Given the description of an element on the screen output the (x, y) to click on. 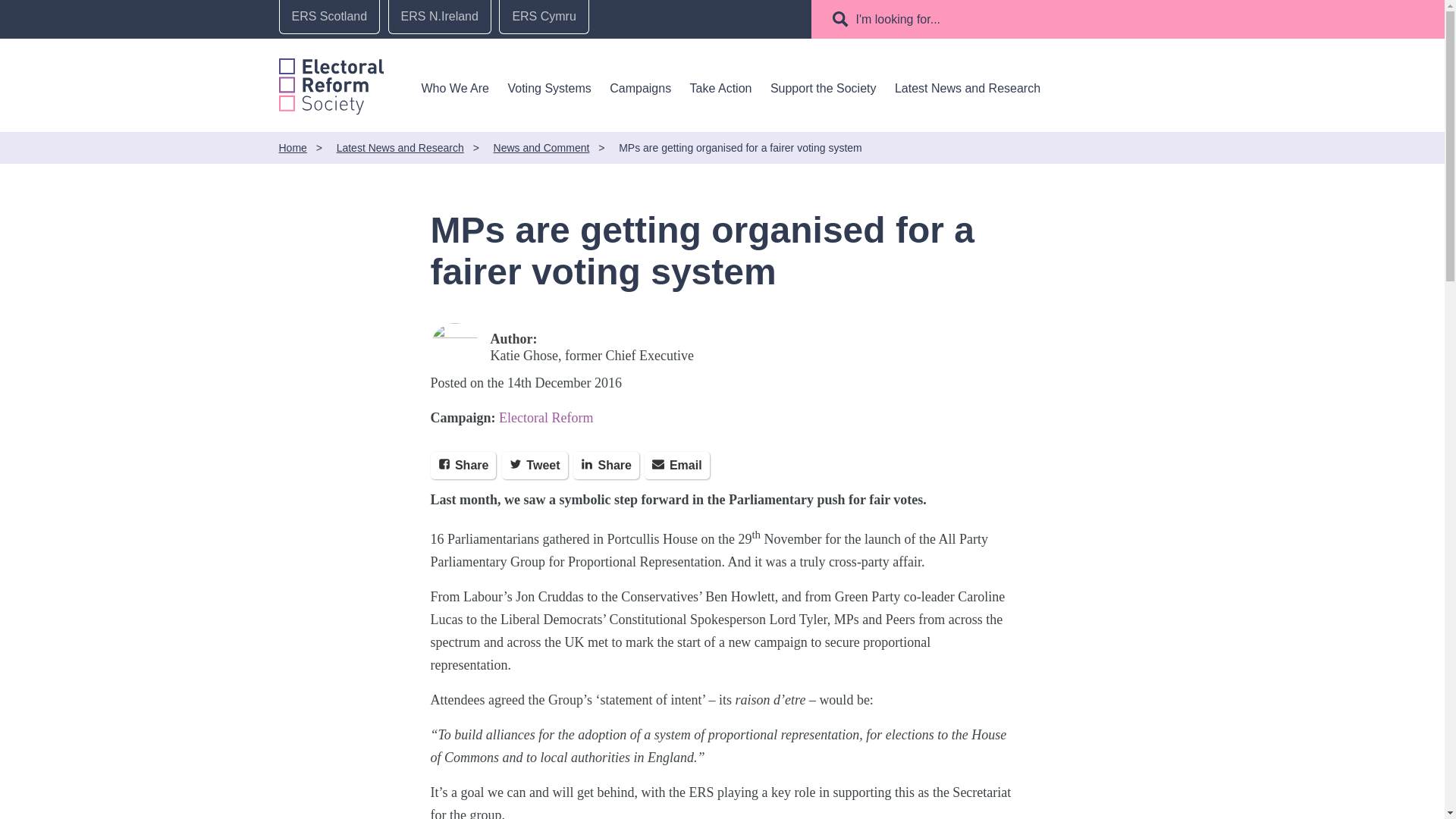
Share on Facebook (463, 465)
I'm looking for... (899, 19)
ERS Cymru (543, 17)
Tweet this page (534, 465)
Take Action (721, 88)
Campaigns (640, 88)
Share on LinkedIn (606, 465)
ERS Scotland (329, 17)
ERS N.Ireland (440, 17)
Latest News and Research (968, 88)
Voting Systems (548, 88)
Who We Are (455, 88)
Share via Email (677, 465)
Support the Society (823, 88)
